Given the description of an element on the screen output the (x, y) to click on. 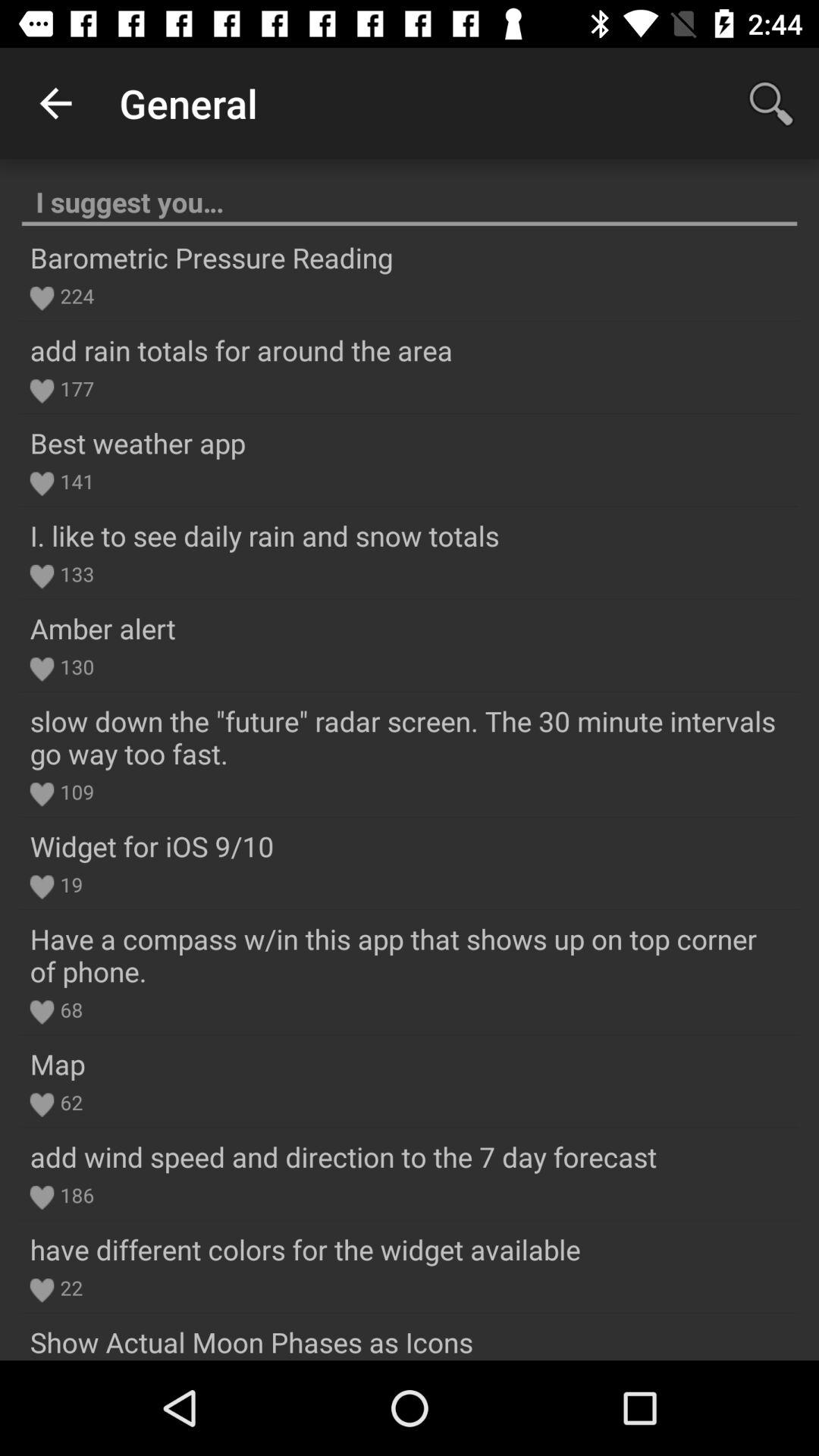
tap the icon above the 133 item (264, 535)
